Given the description of an element on the screen output the (x, y) to click on. 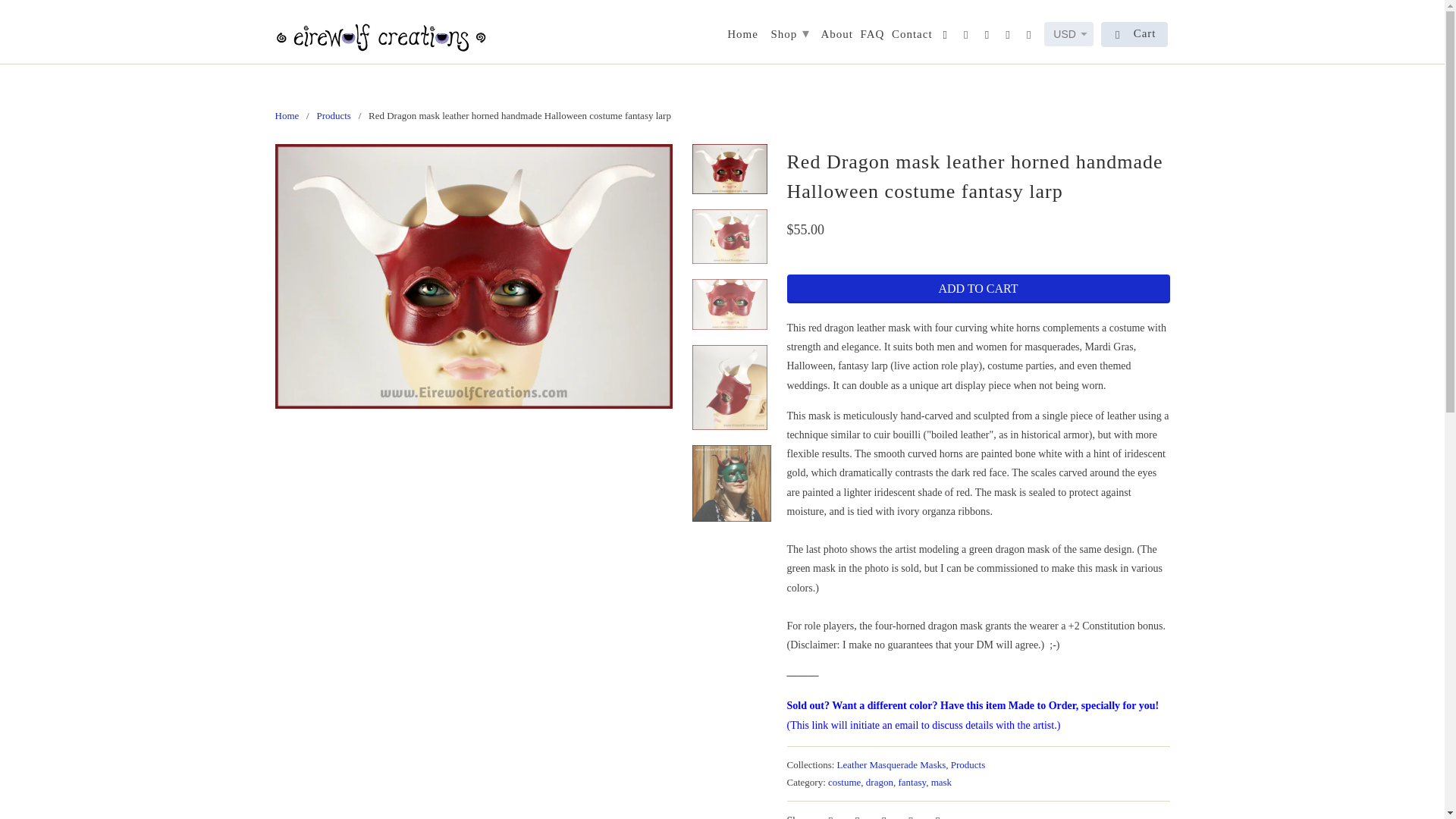
Email Eirewolf Creations about the 4-Horned Red Dragon mask (972, 715)
Eirewolf Creations (380, 31)
Home (742, 36)
Products (332, 115)
Products (967, 764)
Leather Masquerade Masks (891, 764)
Eirewolf Creations (286, 115)
